Given the description of an element on the screen output the (x, y) to click on. 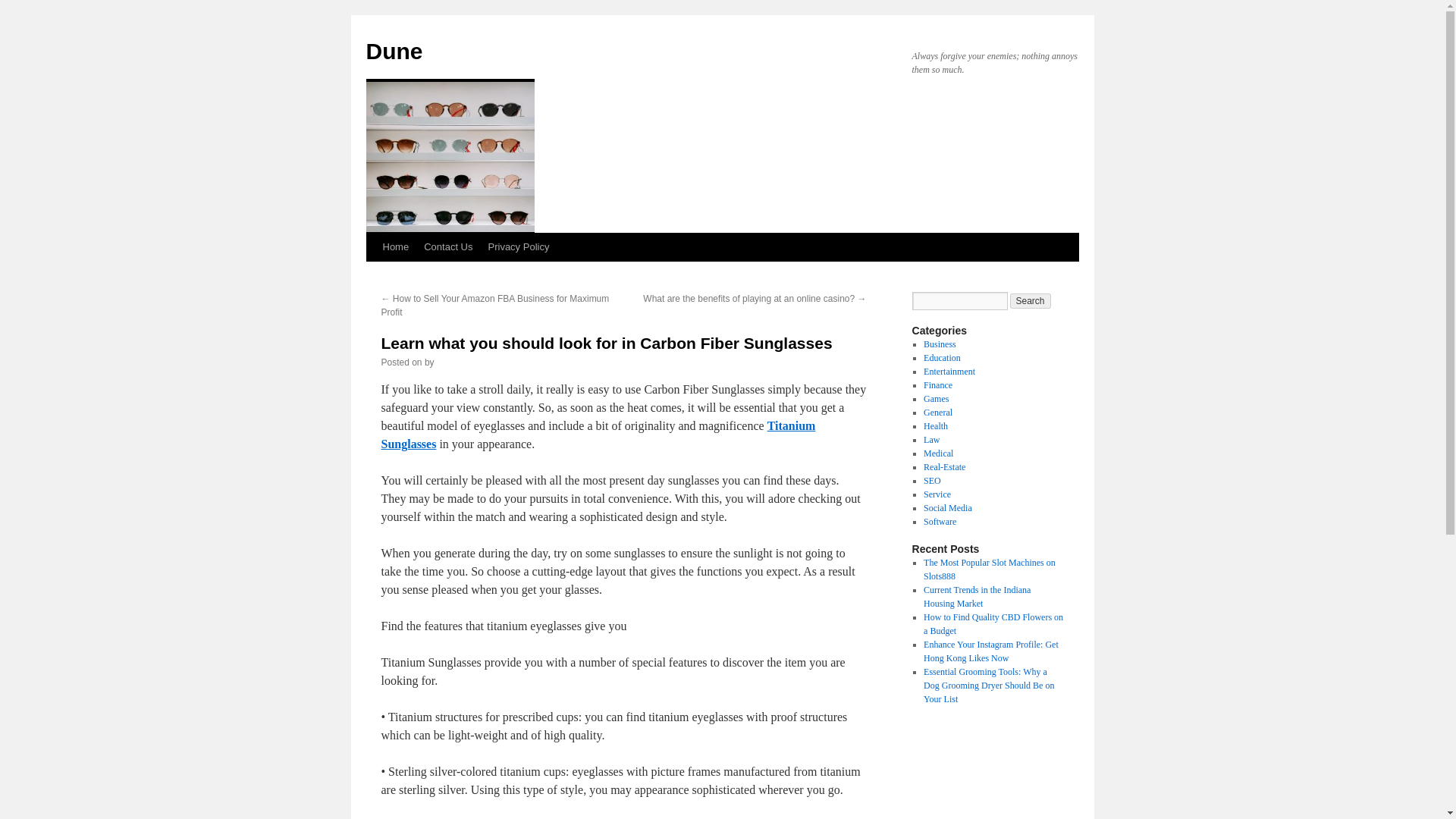
Privacy Policy (518, 246)
Health (935, 425)
Law (931, 439)
Entertainment (949, 371)
The Most Popular Slot Machines on Slots888 (989, 569)
Search (1030, 300)
Education (941, 357)
SEO (931, 480)
How to Find Quality CBD Flowers on a Budget (992, 623)
Service (936, 493)
